Given the description of an element on the screen output the (x, y) to click on. 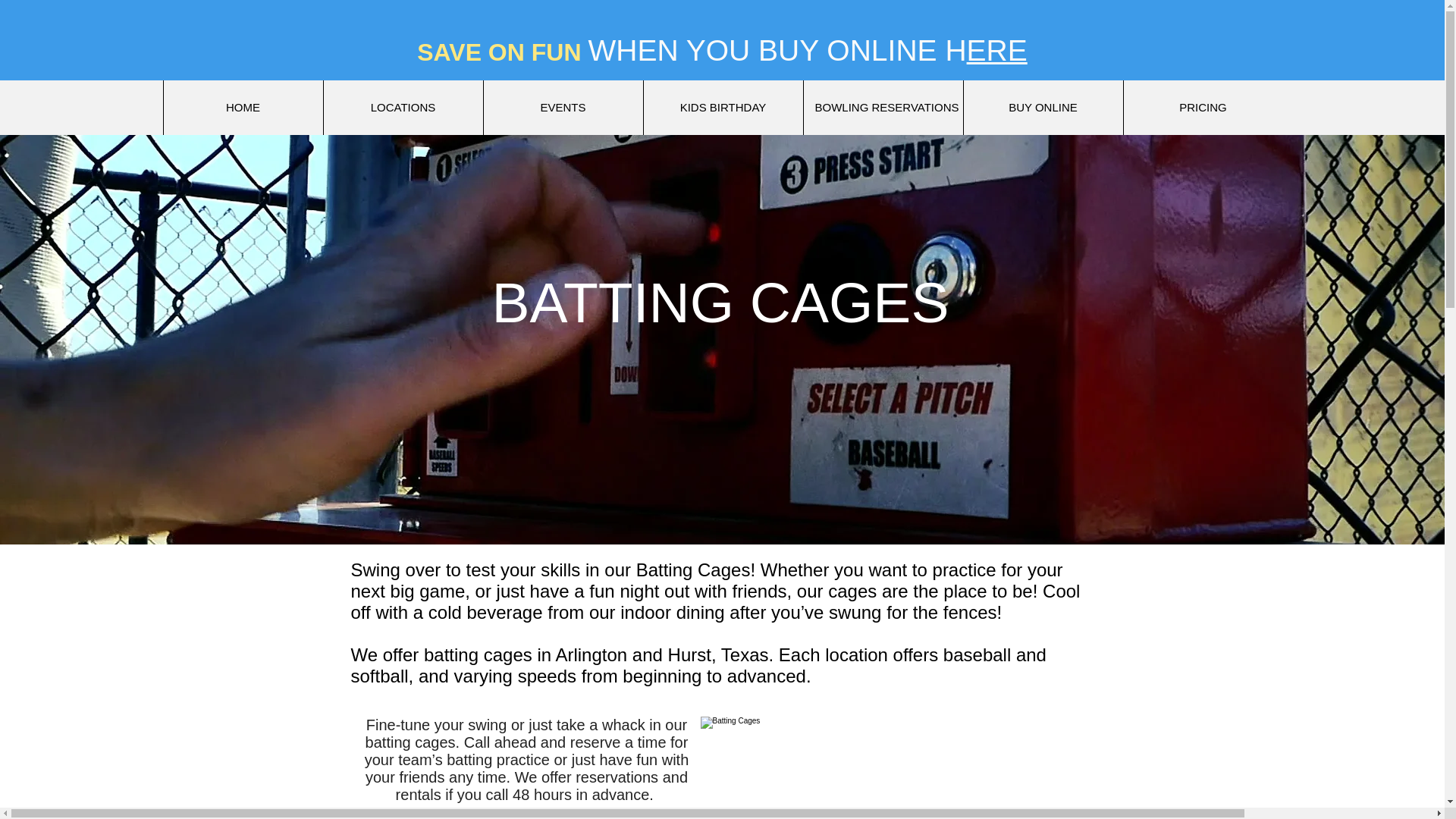
KIDS BIRTHDAY (723, 107)
BOWLING RESERVATIONS (882, 107)
ERE (996, 50)
EVENTS (561, 107)
HOME (241, 107)
PRICING (1202, 107)
LOCATIONS (403, 107)
BUY ONLINE (1042, 107)
